Given the description of an element on the screen output the (x, y) to click on. 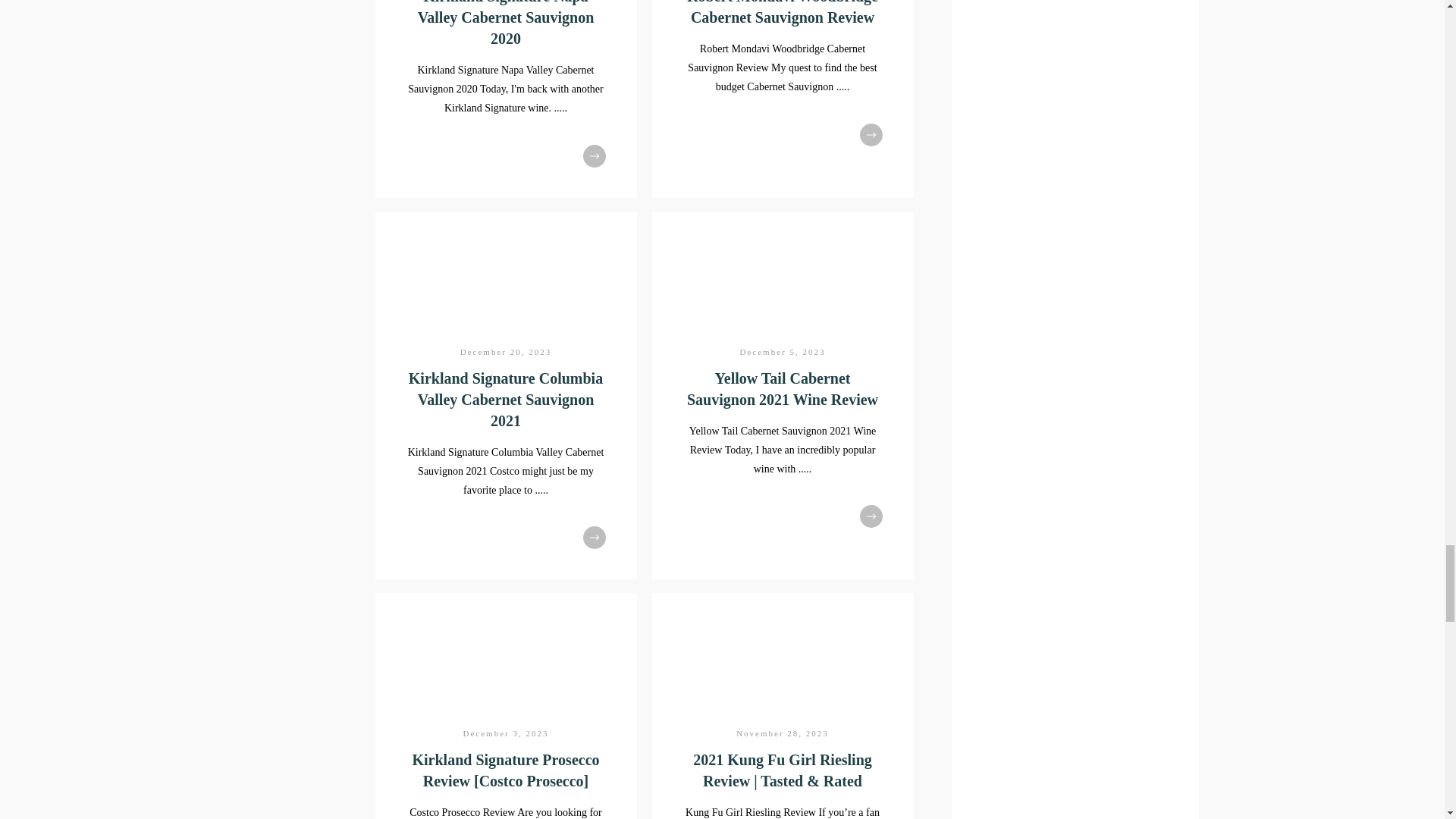
..... (842, 86)
Robert Mondavi Woodbridge Cabernet Sauvignon Review (782, 12)
Kirkland Signature Napa Valley Cabernet Sauvignon 2020 (505, 23)
Kirkland Signature Columbia Valley Cabernet Sauvignon 2021 (505, 399)
..... (560, 107)
Robert Mondavi Woodbridge Cabernet Sauvignon Review (783, 99)
Kirkland Signature Napa Valley Cabernet Sauvignon 2020 (505, 23)
Kirkland Signature Napa Valley Cabernet Sauvignon 2020 (505, 99)
